Given the description of an element on the screen output the (x, y) to click on. 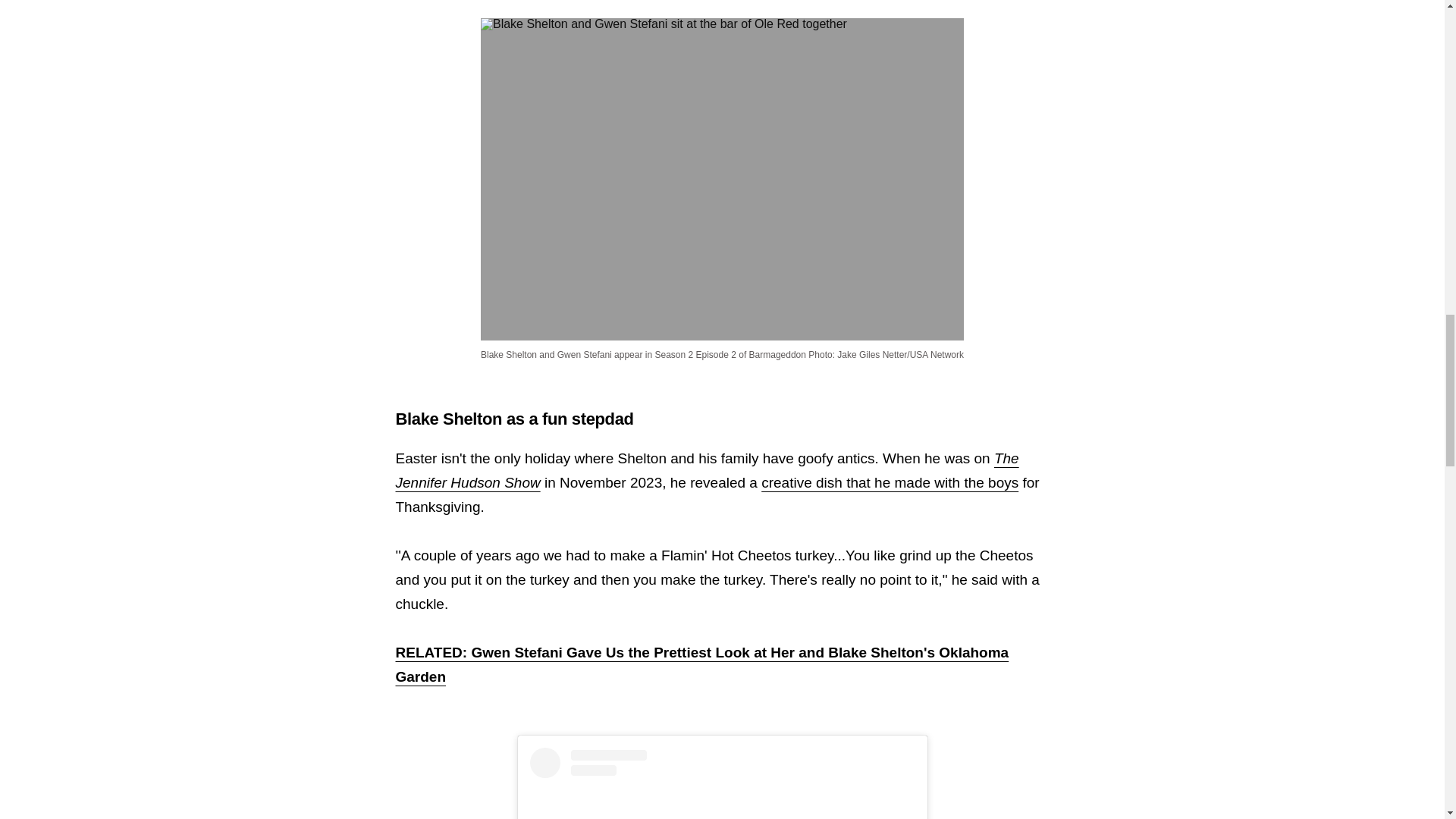
The Jennifer Hudson Show (707, 470)
creative dish that he made with the boys (889, 482)
